Given the description of an element on the screen output the (x, y) to click on. 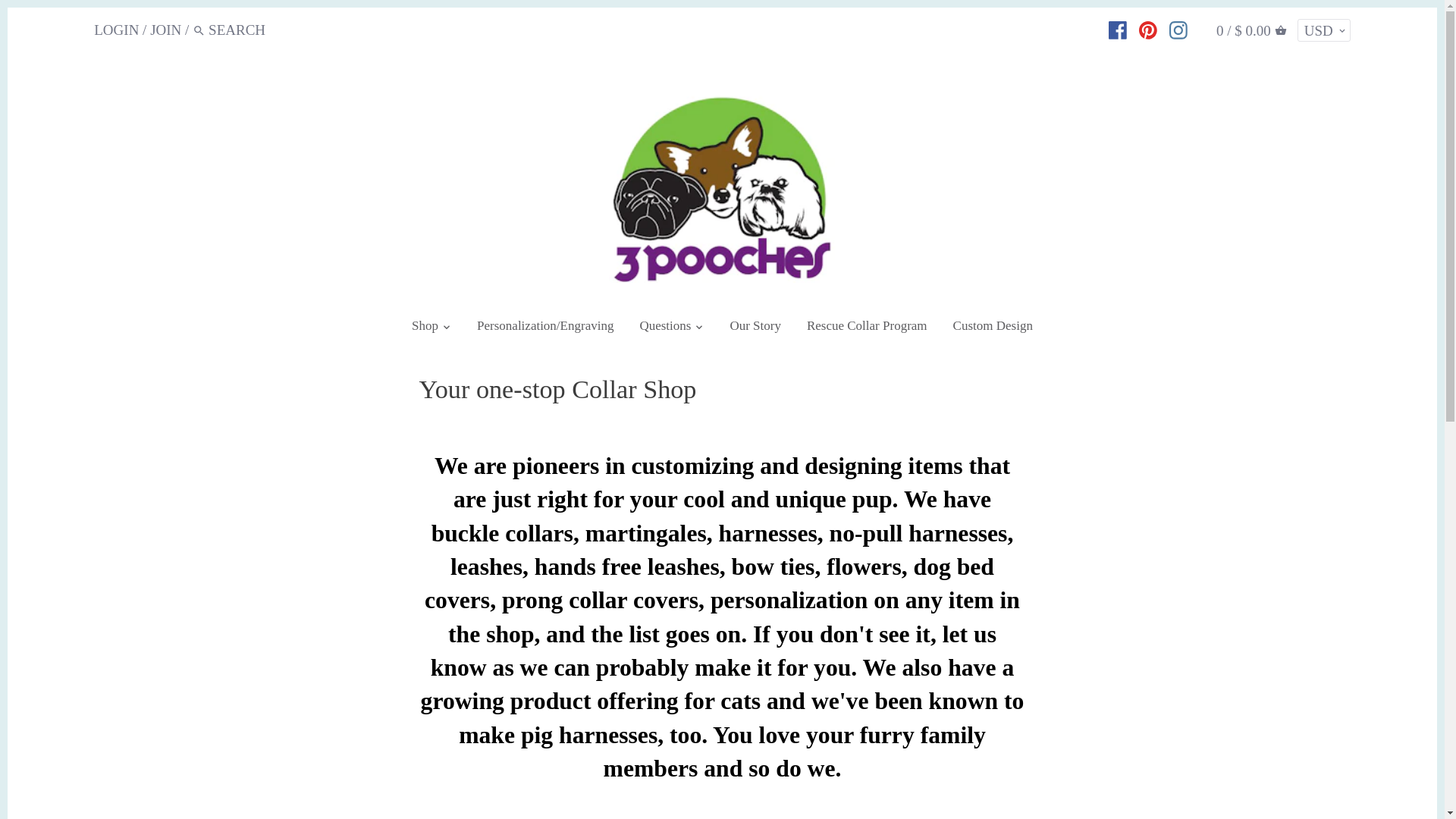
Custom Design Element type: text (992, 329)
PINTEREST Element type: text (1148, 29)
Rescue Collar Program Element type: text (866, 329)
INSTAGRAM Element type: text (1178, 29)
Our Story Element type: text (754, 329)
Questions Element type: text (664, 329)
0 / $ 0.00 CART Element type: text (1251, 30)
Personalization/Engraving Element type: text (545, 329)
JOIN Element type: text (165, 29)
FACEBOOK Element type: text (1117, 29)
LOGIN Element type: text (116, 29)
Search Element type: text (198, 32)
Shop Element type: text (424, 329)
